Given the description of an element on the screen output the (x, y) to click on. 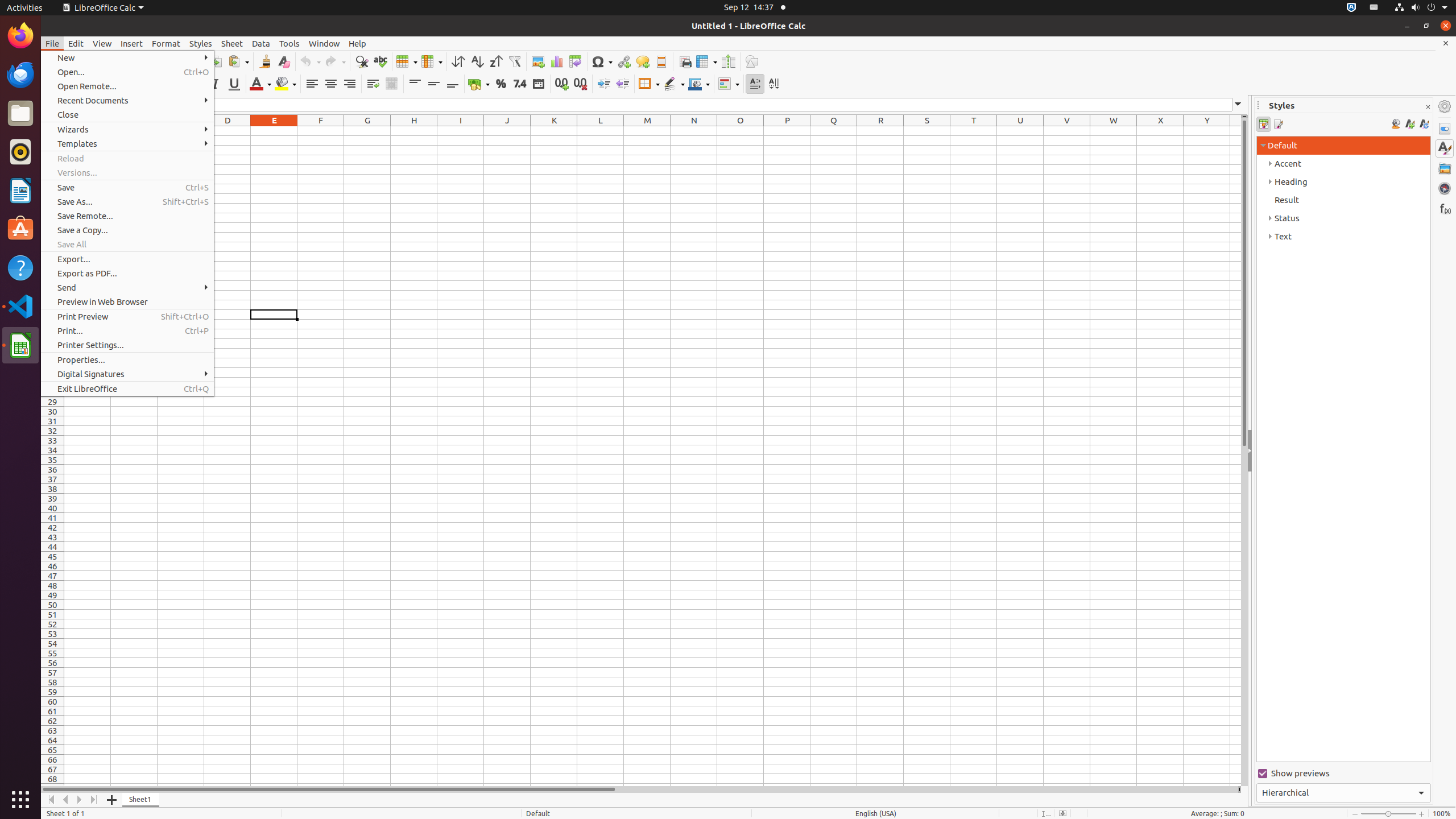
Number Element type: push-button (519, 83)
Border Style Element type: push-button (673, 83)
Open Remote... Element type: menu-item (126, 86)
Update Style Element type: push-button (1423, 123)
Move Right Element type: push-button (79, 799)
